Given the description of an element on the screen output the (x, y) to click on. 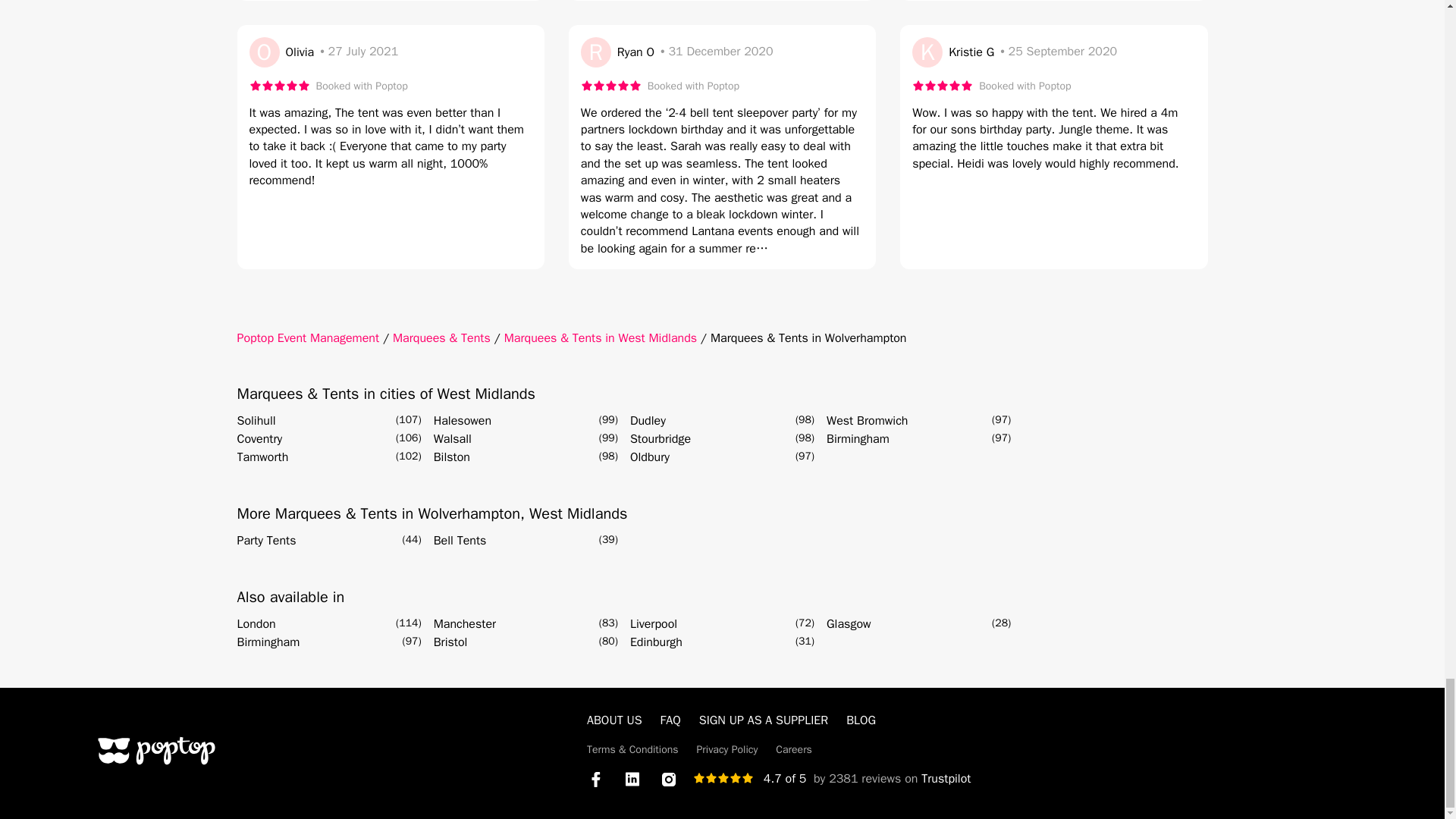
Birmingham (858, 438)
Party Tents (265, 540)
Manchester (464, 624)
SIGN UP AS A SUPPLIER (763, 720)
Bell Tents (459, 540)
Glasgow (848, 624)
Oldbury (649, 456)
Dudley (647, 420)
Coventry (258, 438)
Careers (794, 748)
FAQ (671, 720)
Bristol (450, 642)
Liverpool (653, 624)
London (255, 624)
Birmingham (267, 642)
